Given the description of an element on the screen output the (x, y) to click on. 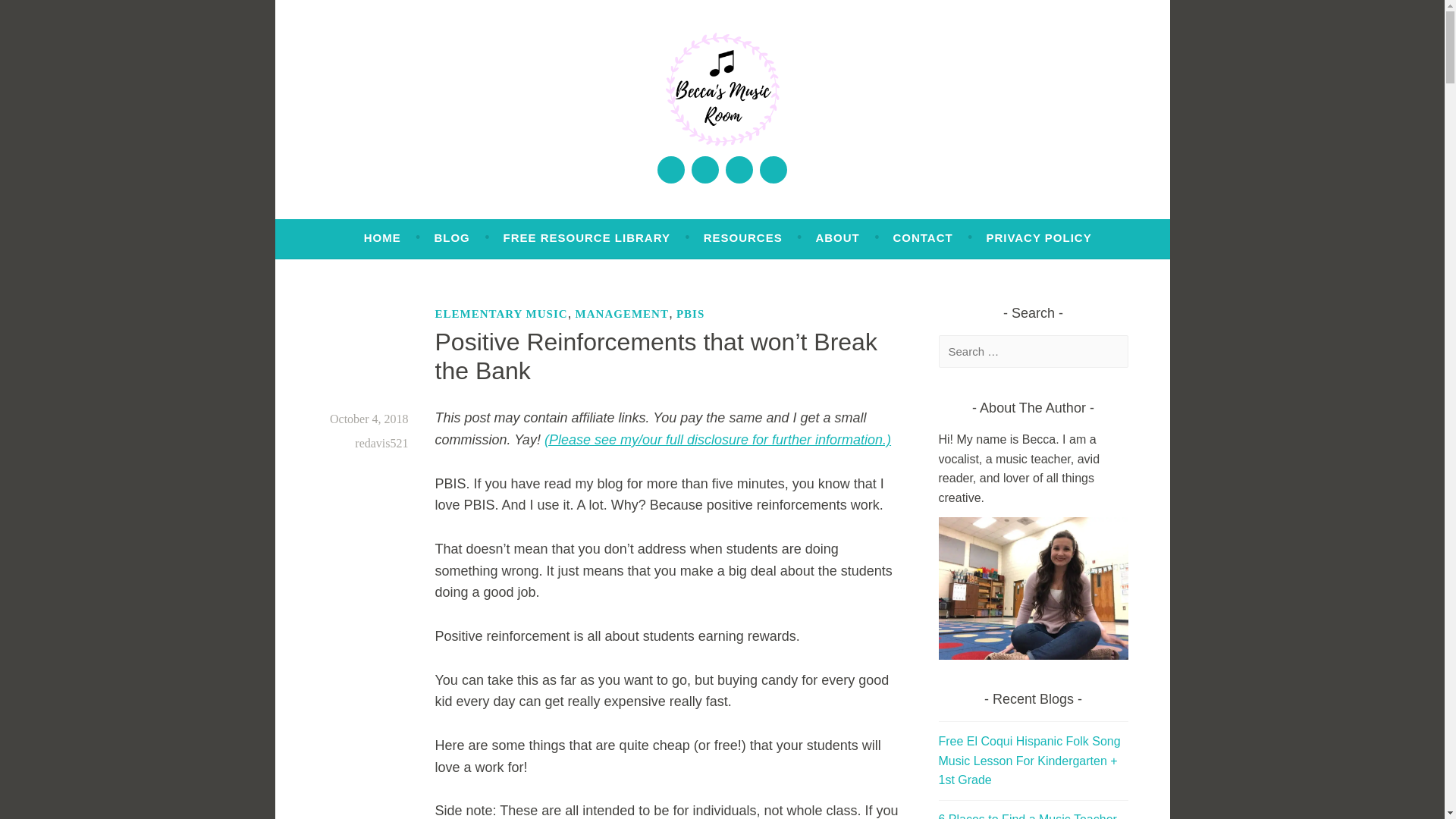
redavis521 (381, 442)
ABOUT (837, 237)
MANAGEMENT (621, 313)
HOME (382, 237)
Becca's Music Room (467, 178)
October 4, 2018 (369, 418)
ELEMENTARY MUSIC (501, 313)
RESOURCES (743, 237)
FREE RESOURCE LIBRARY (585, 237)
PRIVACY POLICY (1037, 237)
